Given the description of an element on the screen output the (x, y) to click on. 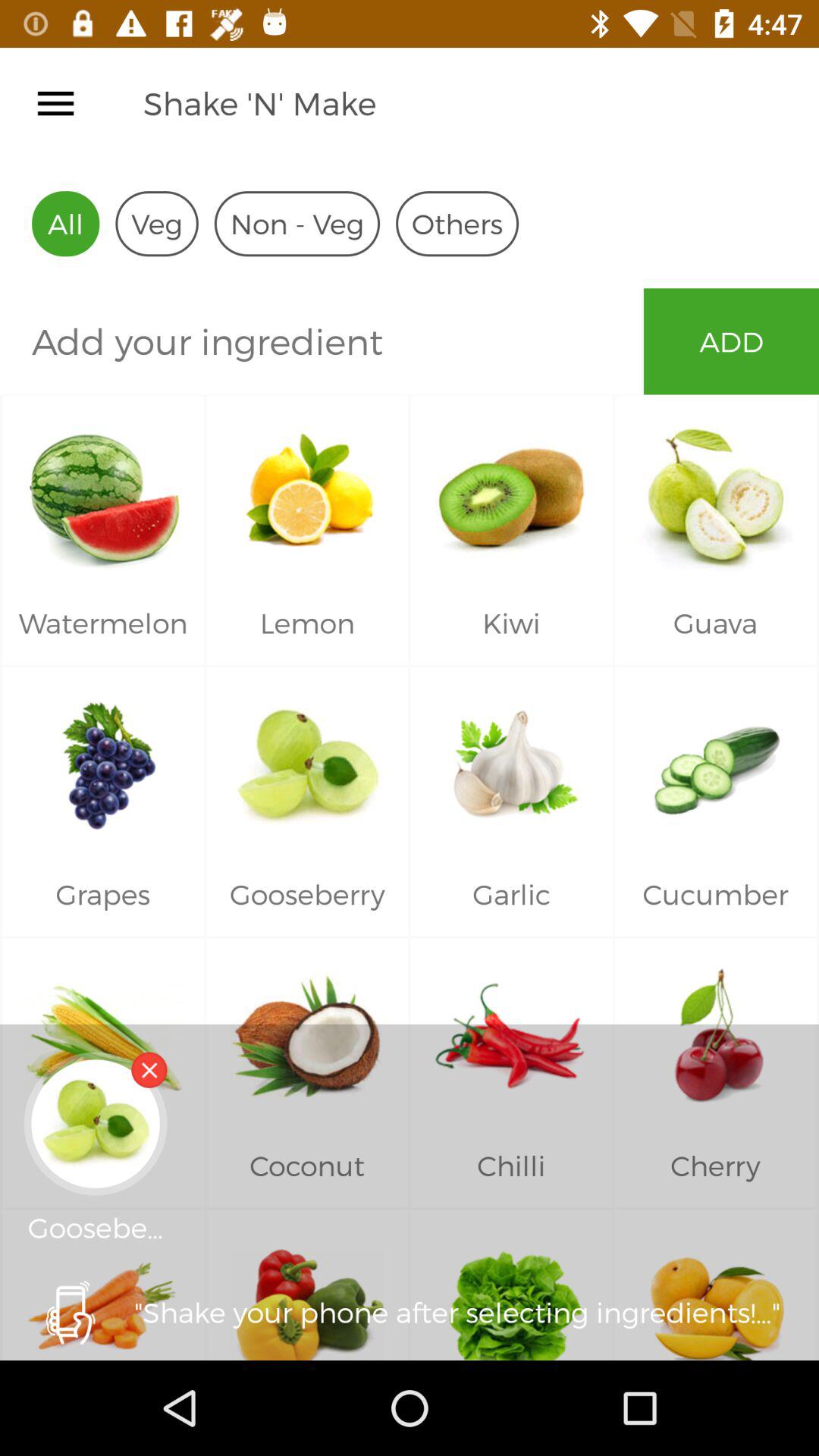
launch others icon (456, 223)
